Given the description of an element on the screen output the (x, y) to click on. 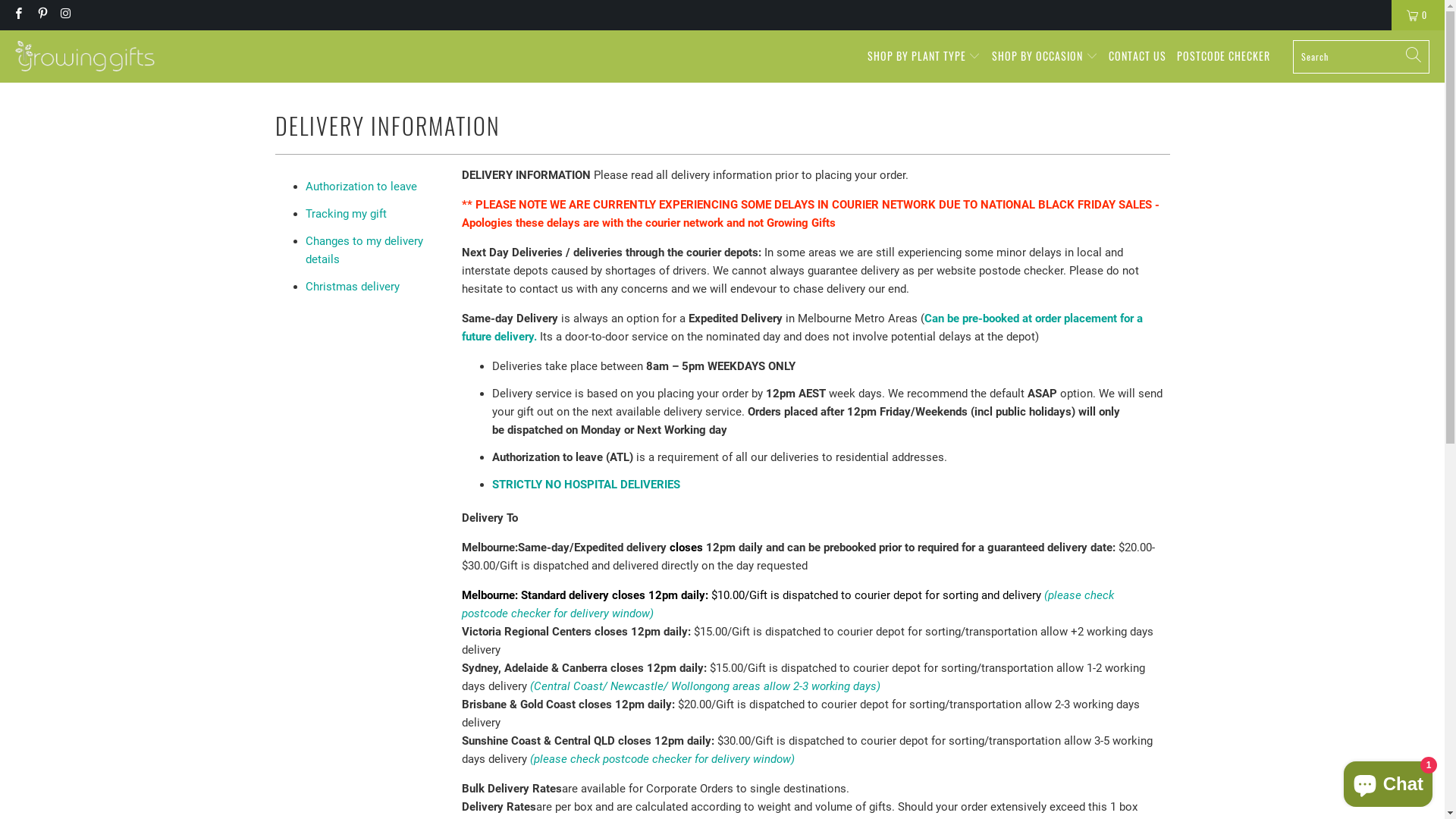
Shopify online store chat Element type: hover (1388, 780)
Tracking my gift Element type: text (344, 213)
Growing Gifts on Pinterest Element type: hover (40, 14)
Growing Gifts Element type: hover (85, 56)
Growing Gifts on Facebook Element type: hover (17, 14)
SHOP BY PLANT TYPE Element type: text (924, 56)
Authorization to leave Element type: text (360, 186)
Growing Gifts on Instagram Element type: hover (65, 14)
Changes to my delivery details Element type: text (363, 250)
Christmas delivery Element type: text (351, 286)
0 Element type: text (1417, 15)
SHOP BY OCCASION Element type: text (1044, 56)
POSTCODE CHECKER Element type: text (1223, 55)
CONTACT US Element type: text (1137, 56)
